Given the description of an element on the screen output the (x, y) to click on. 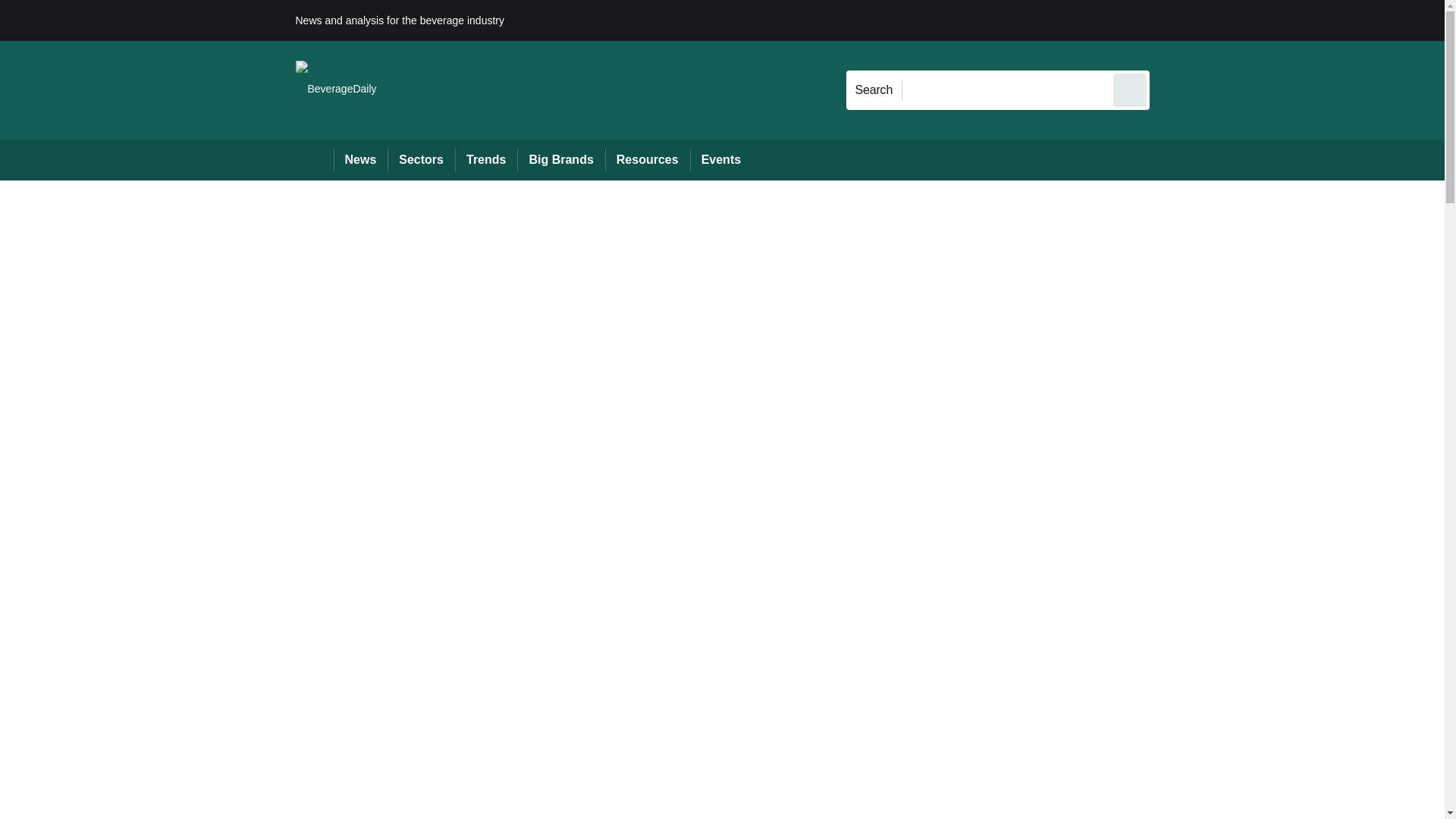
Sectors (420, 159)
Home (313, 159)
REGISTER (1250, 20)
Trends (485, 159)
Sign in (1171, 20)
BeverageDaily (336, 89)
News (360, 159)
Home (314, 159)
Send (1129, 89)
Send (1129, 90)
